Given the description of an element on the screen output the (x, y) to click on. 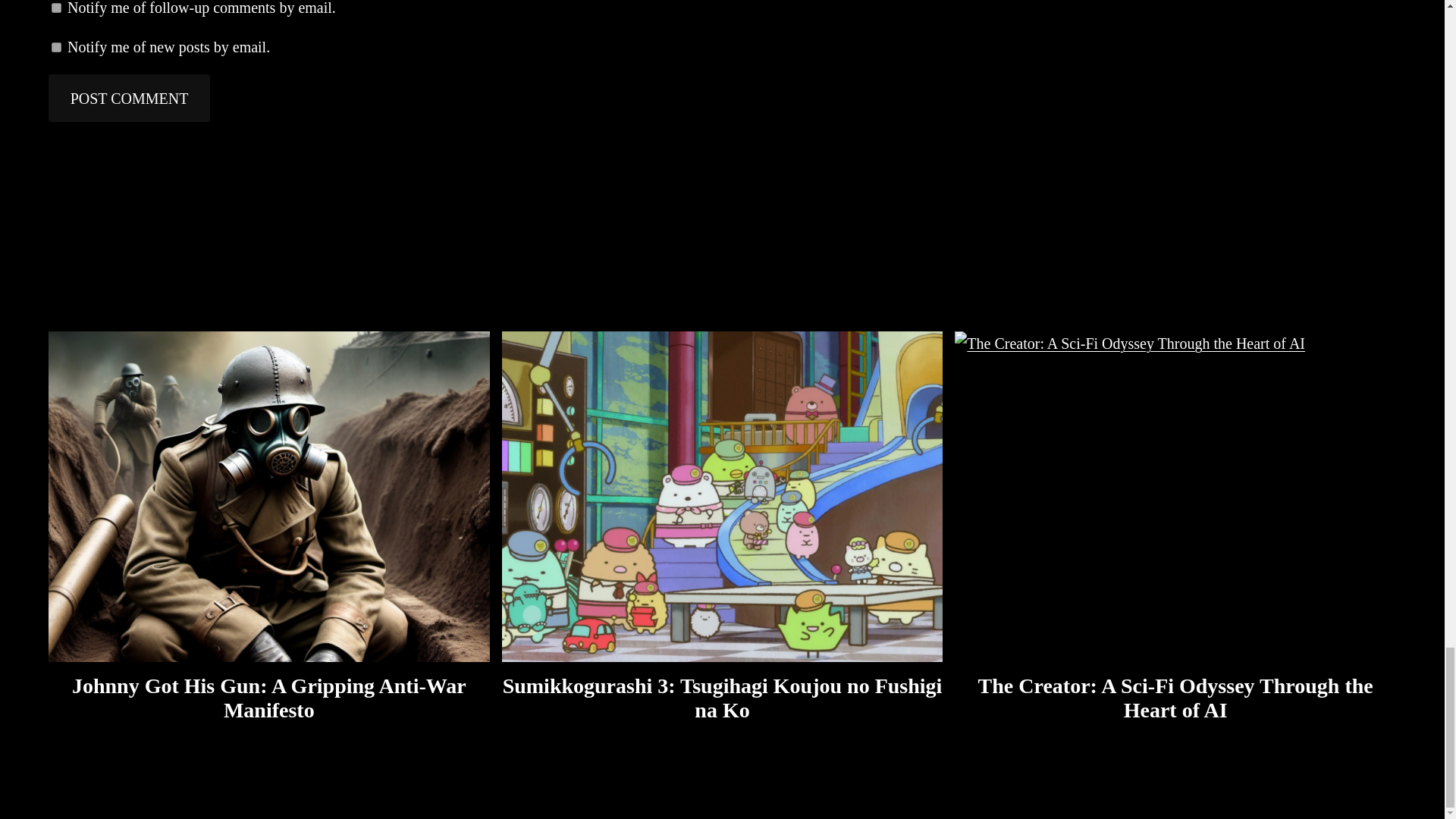
subscribe (55, 47)
Post Comment (128, 98)
Post Comment (128, 98)
subscribe (55, 8)
